Given the description of an element on the screen output the (x, y) to click on. 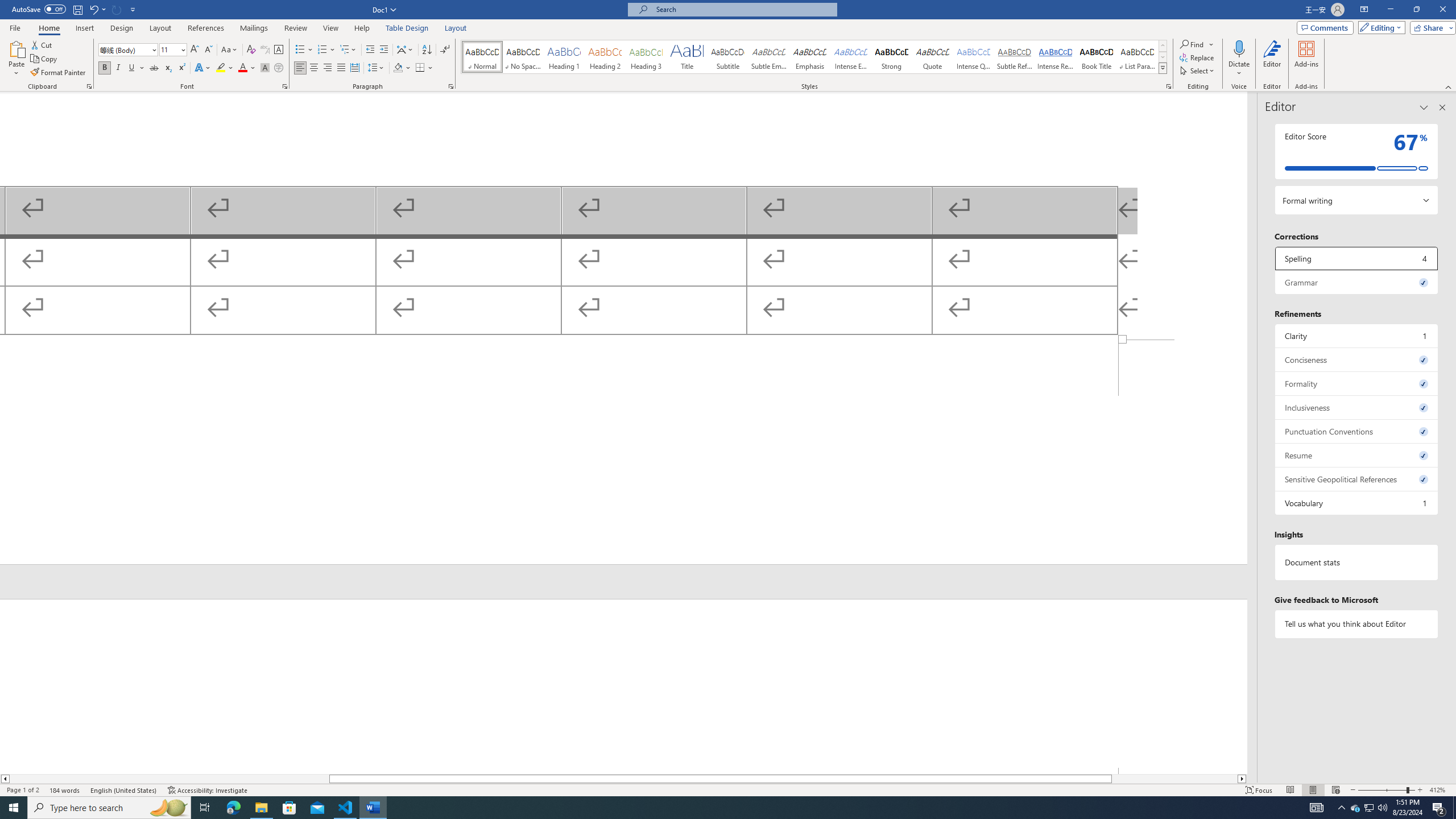
Quote (932, 56)
Clear Formatting (250, 49)
Page 1 content (623, 215)
Class: MsoCommandBar (728, 789)
Cut (42, 44)
Microsoft search (742, 9)
Column left (5, 778)
